Given the description of an element on the screen output the (x, y) to click on. 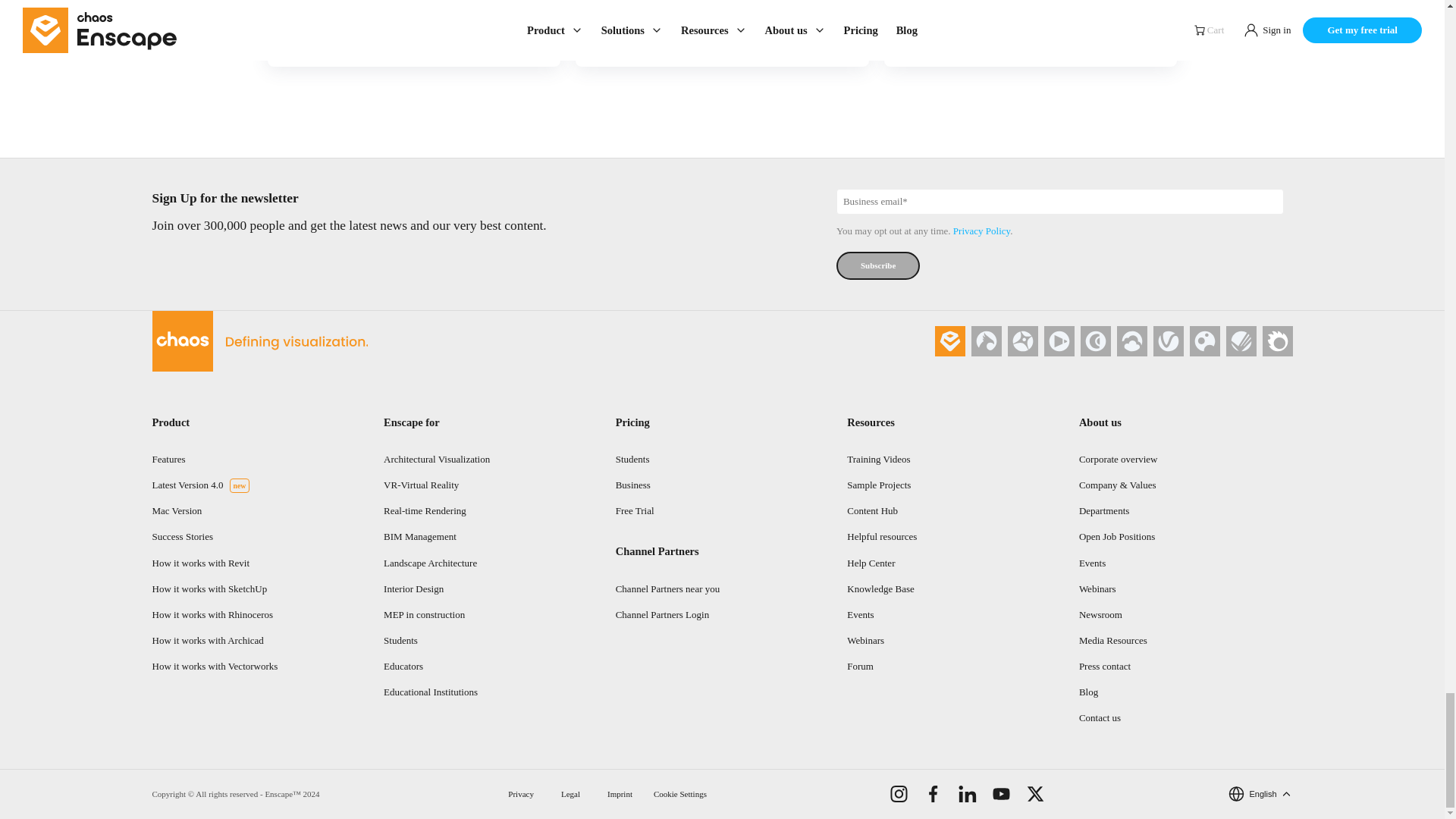
Subscribe (877, 265)
